Given the description of an element on the screen output the (x, y) to click on. 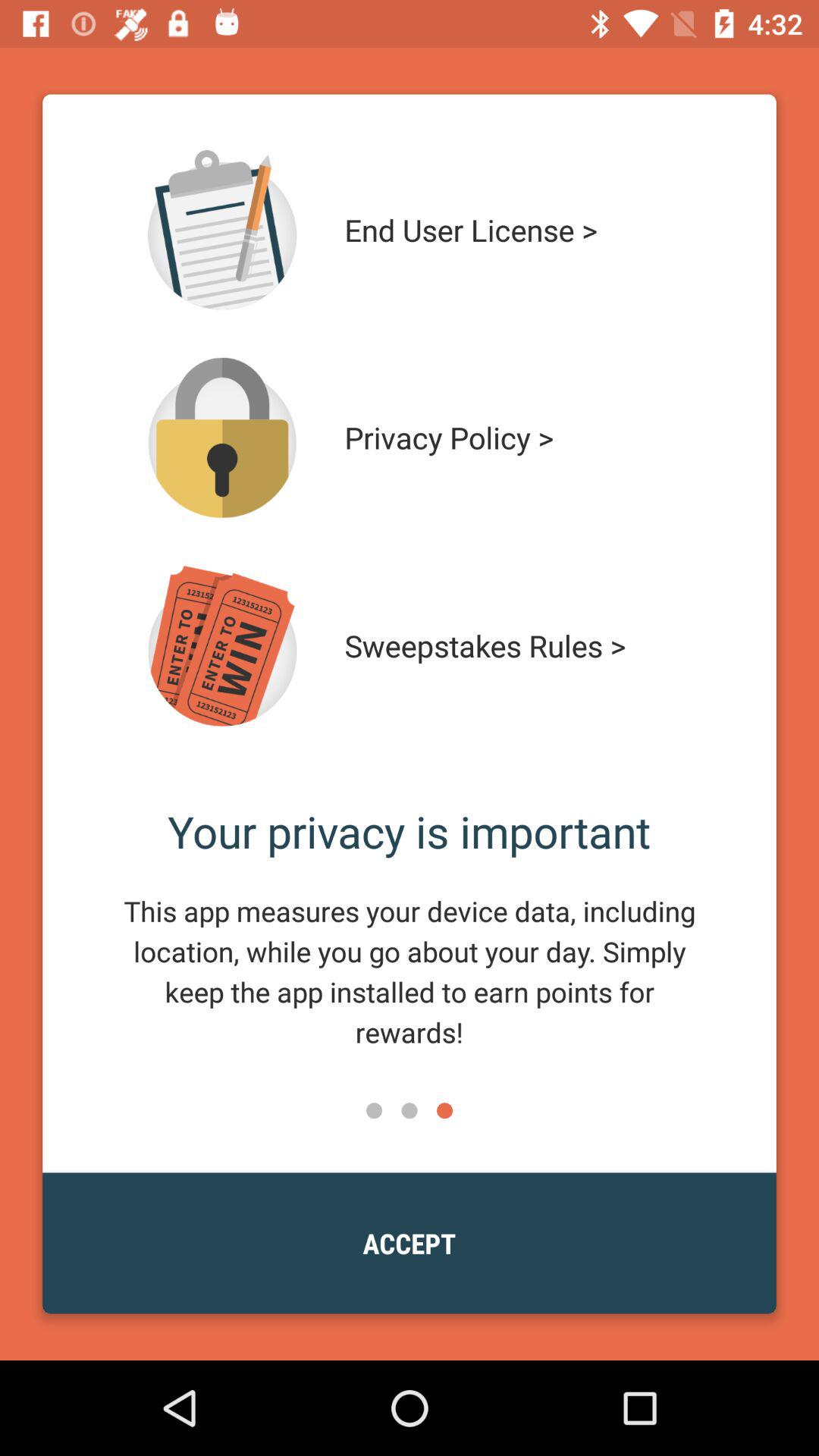
press the icon above sweepstakes rules > icon (514, 437)
